Given the description of an element on the screen output the (x, y) to click on. 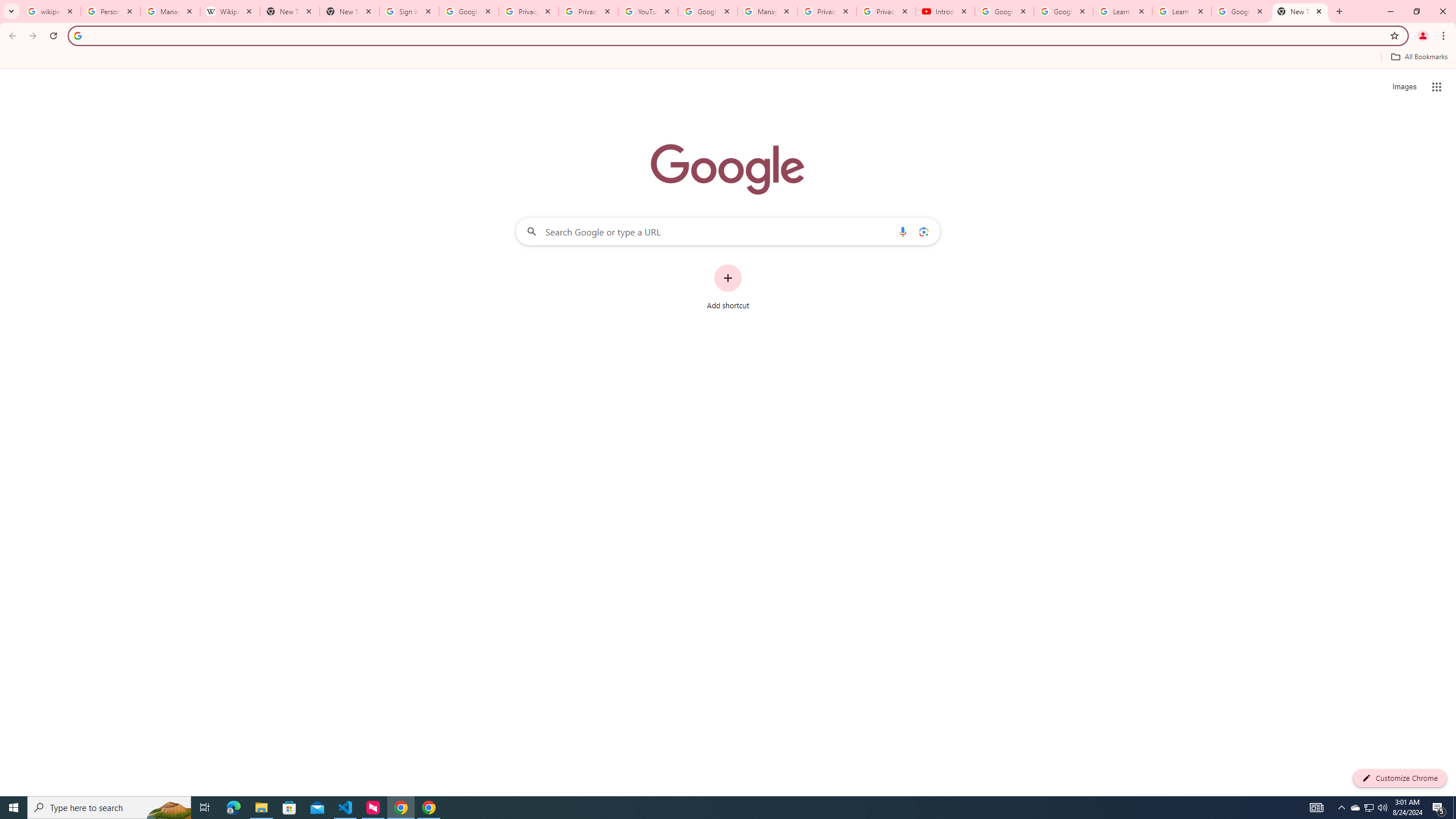
Search Google or type a URL (727, 230)
Manage your Location History - Google Search Help (170, 11)
Google Account Help (707, 11)
